Given the description of an element on the screen output the (x, y) to click on. 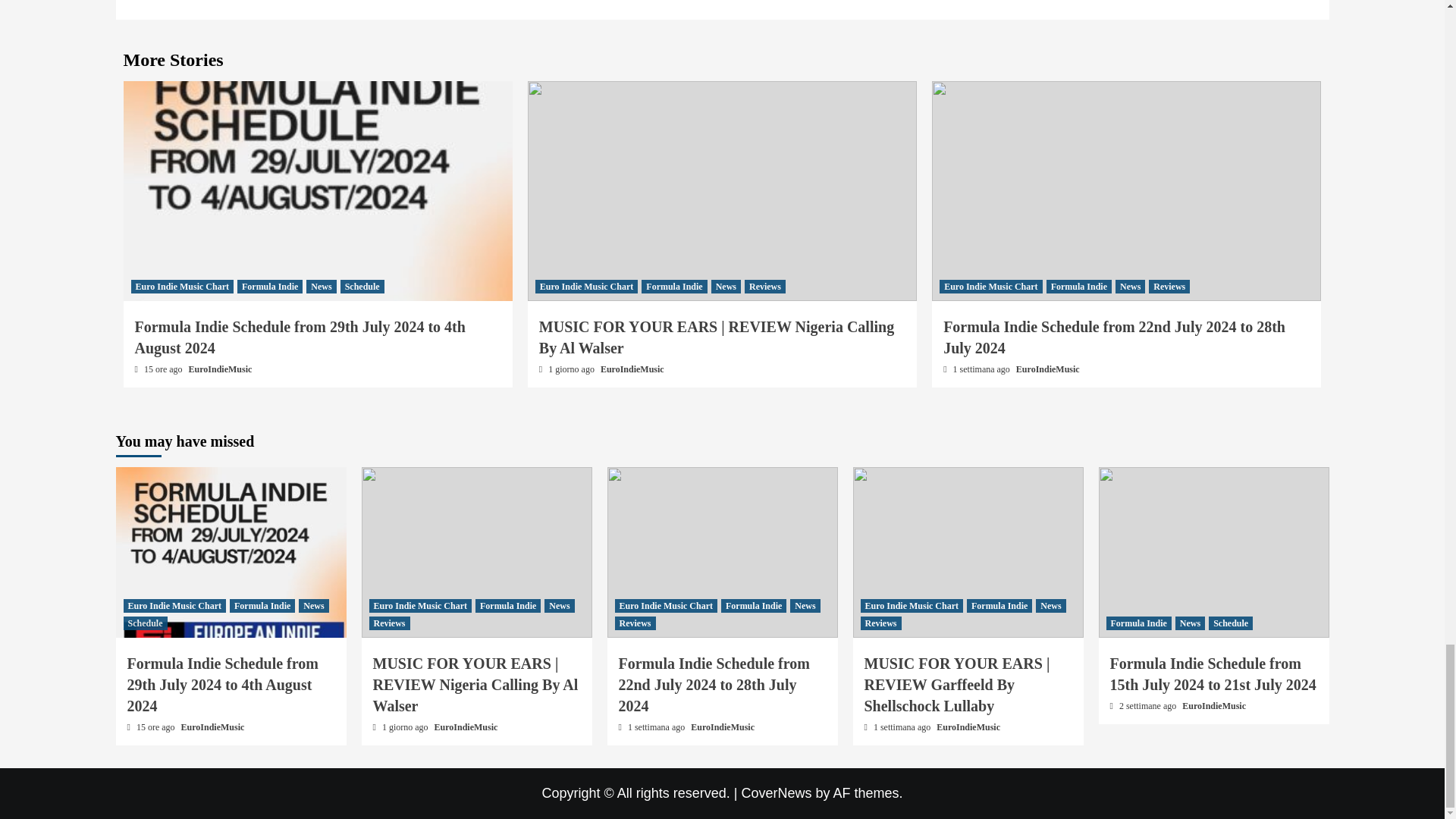
Euro Indie Music Chart (181, 286)
